Given the description of an element on the screen output the (x, y) to click on. 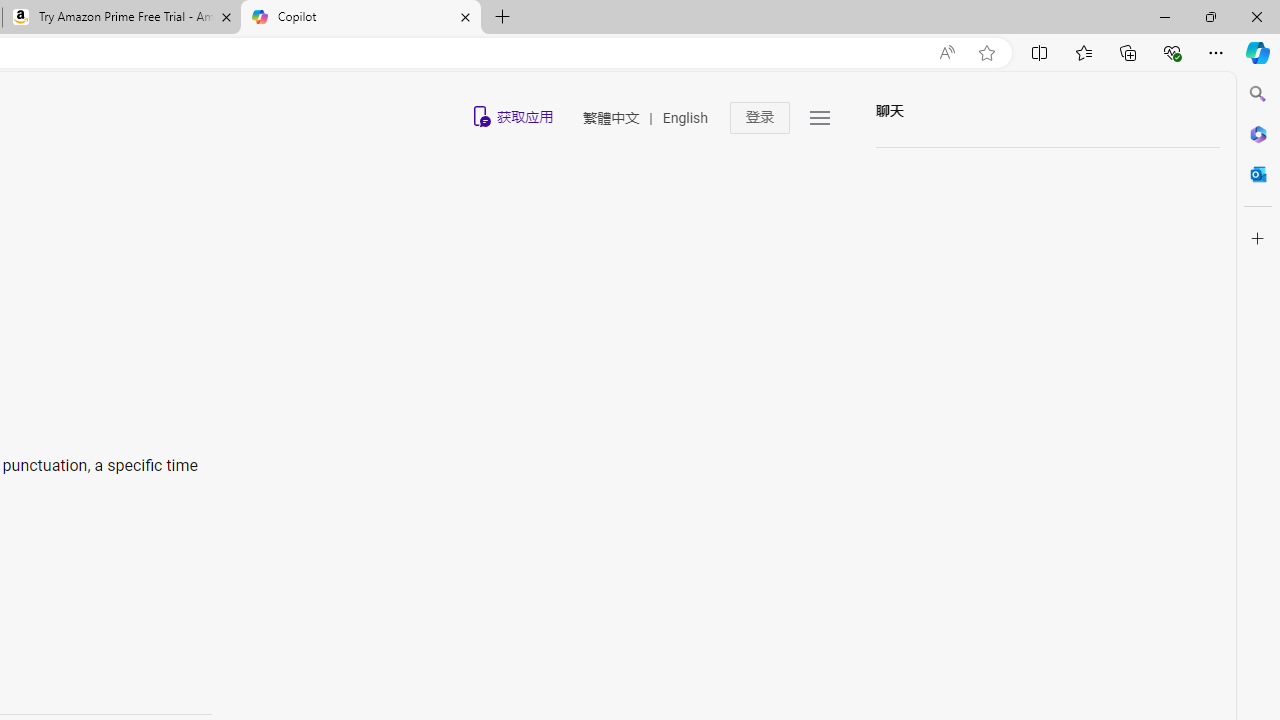
English (684, 118)
Copilot (360, 17)
